Given the description of an element on the screen output the (x, y) to click on. 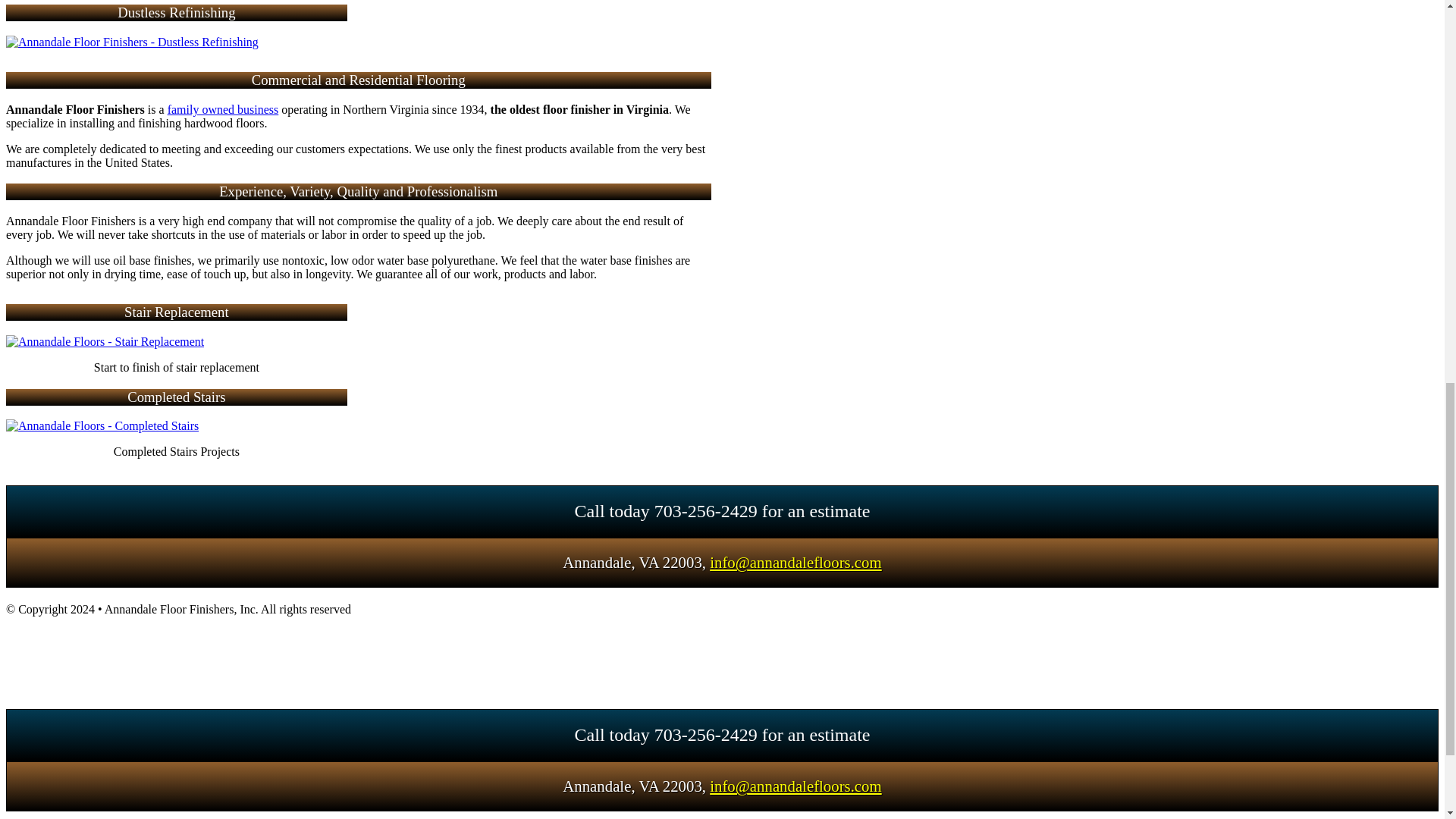
Dustless Refinishing (132, 42)
Completed Stairs (101, 426)
Stair Replacement (104, 341)
